Given the description of an element on the screen output the (x, y) to click on. 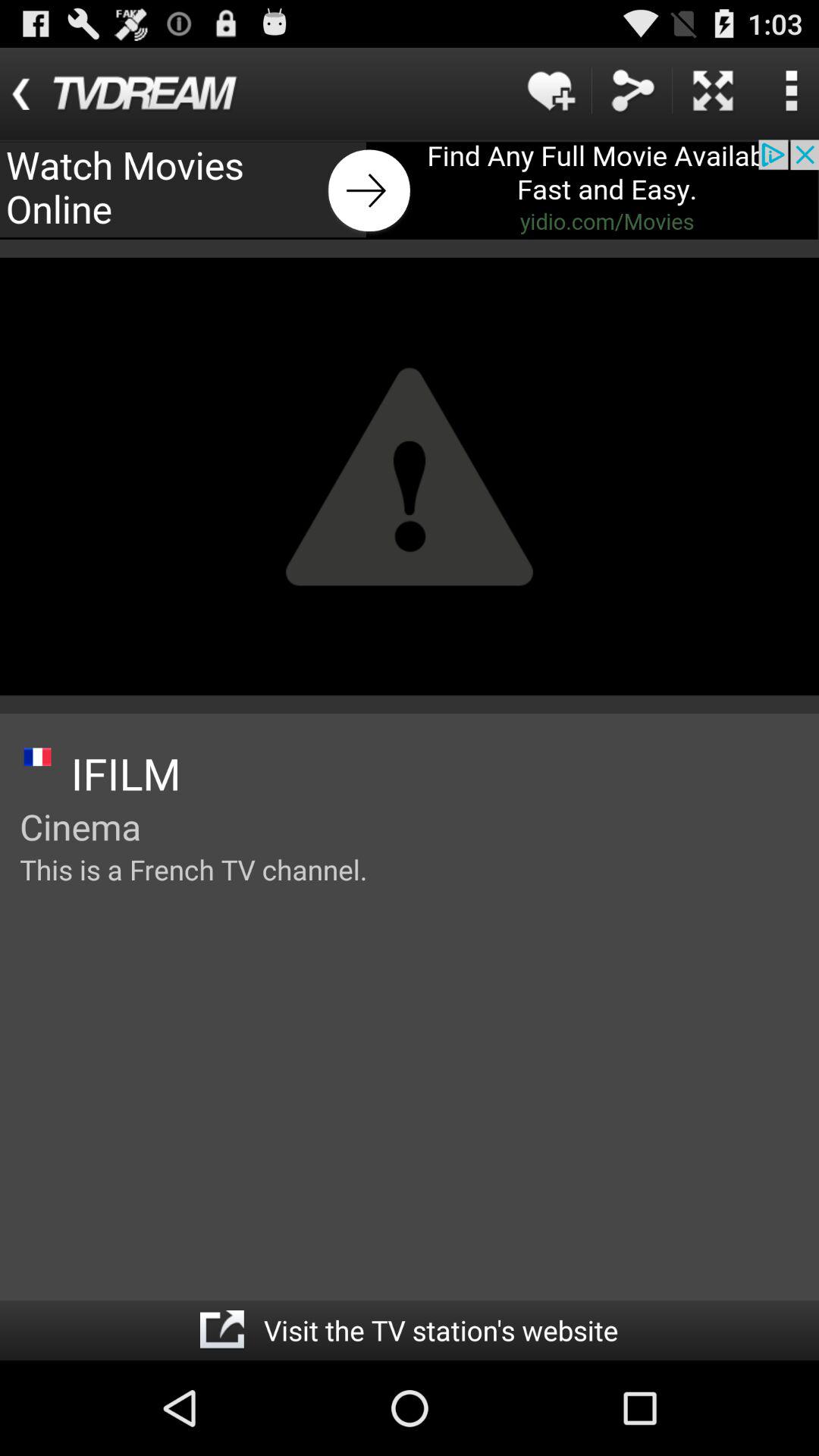
visit tv station 's website (221, 1330)
